Given the description of an element on the screen output the (x, y) to click on. 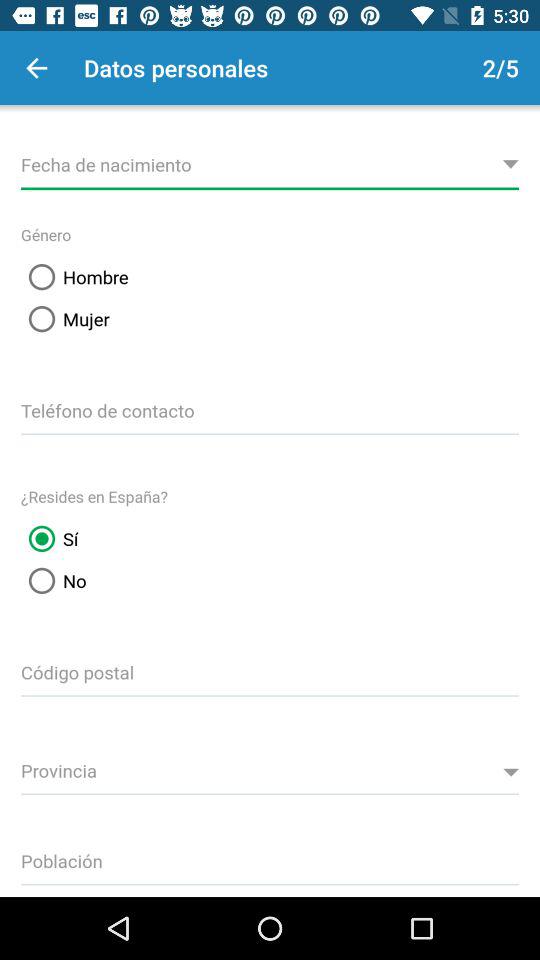
enter poblacin (270, 858)
